Given the description of an element on the screen output the (x, y) to click on. 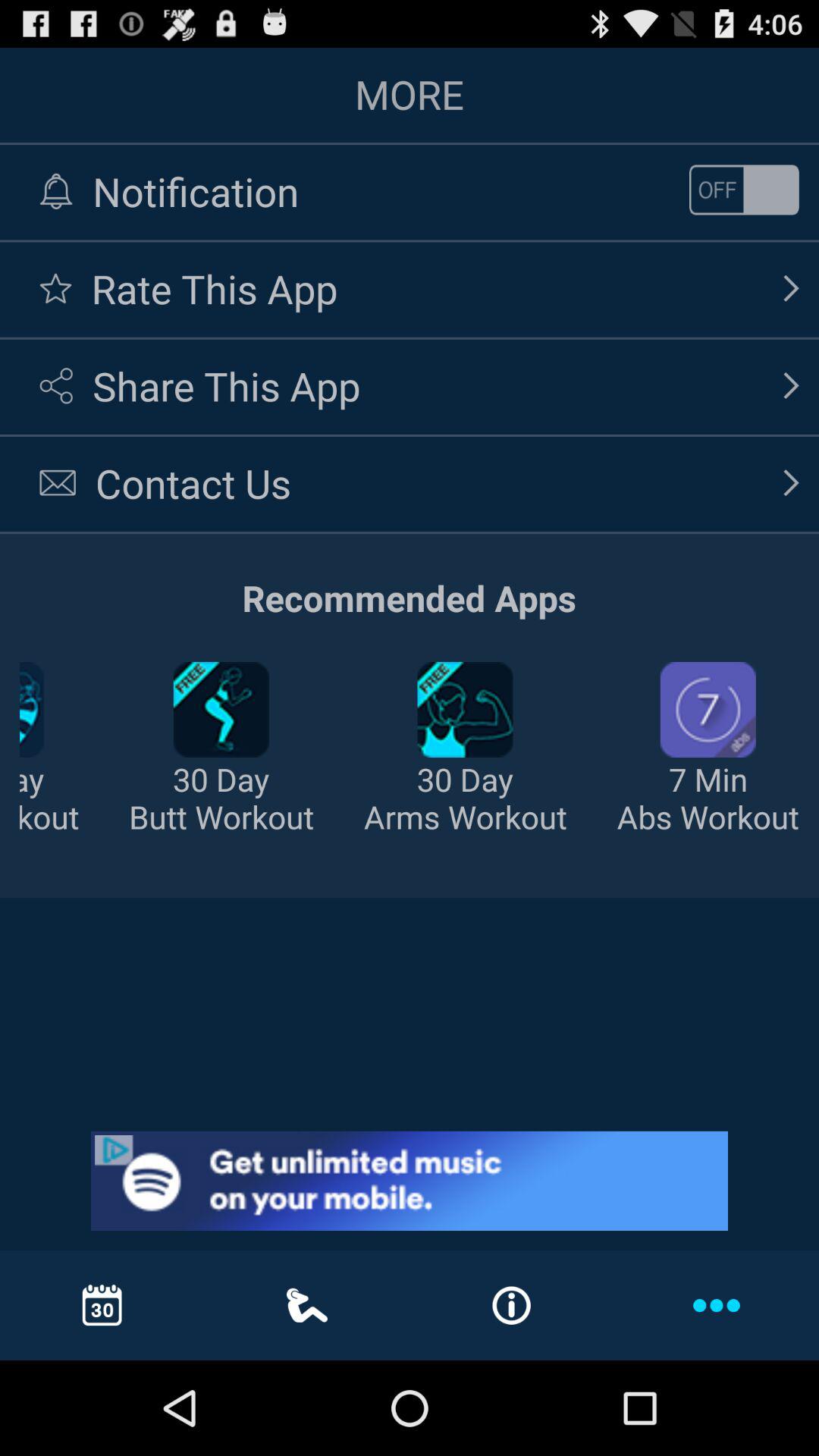
go off button (744, 189)
